Given the description of an element on the screen output the (x, y) to click on. 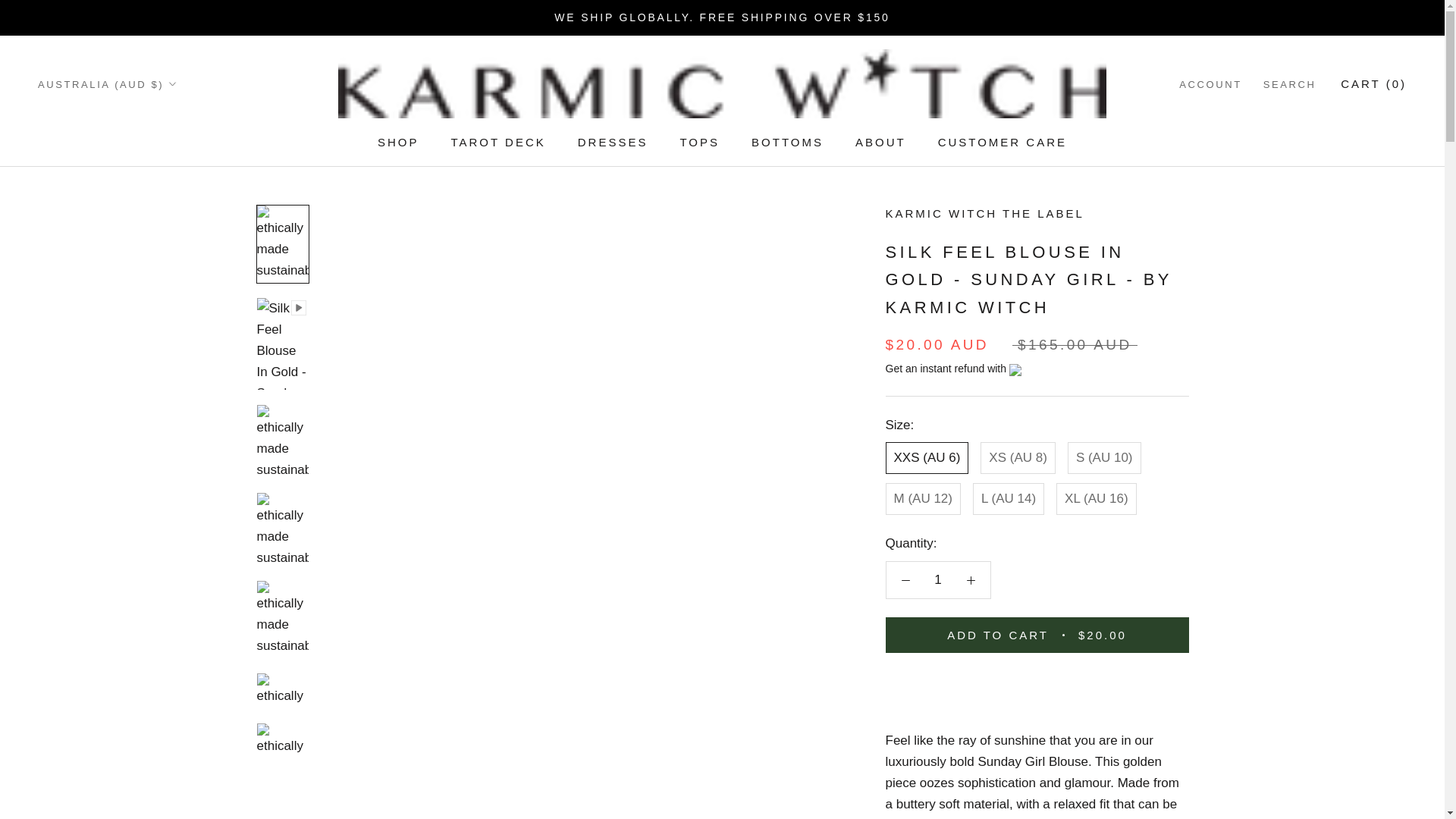
SHOP (398, 141)
1 (938, 580)
